Given the description of an element on the screen output the (x, y) to click on. 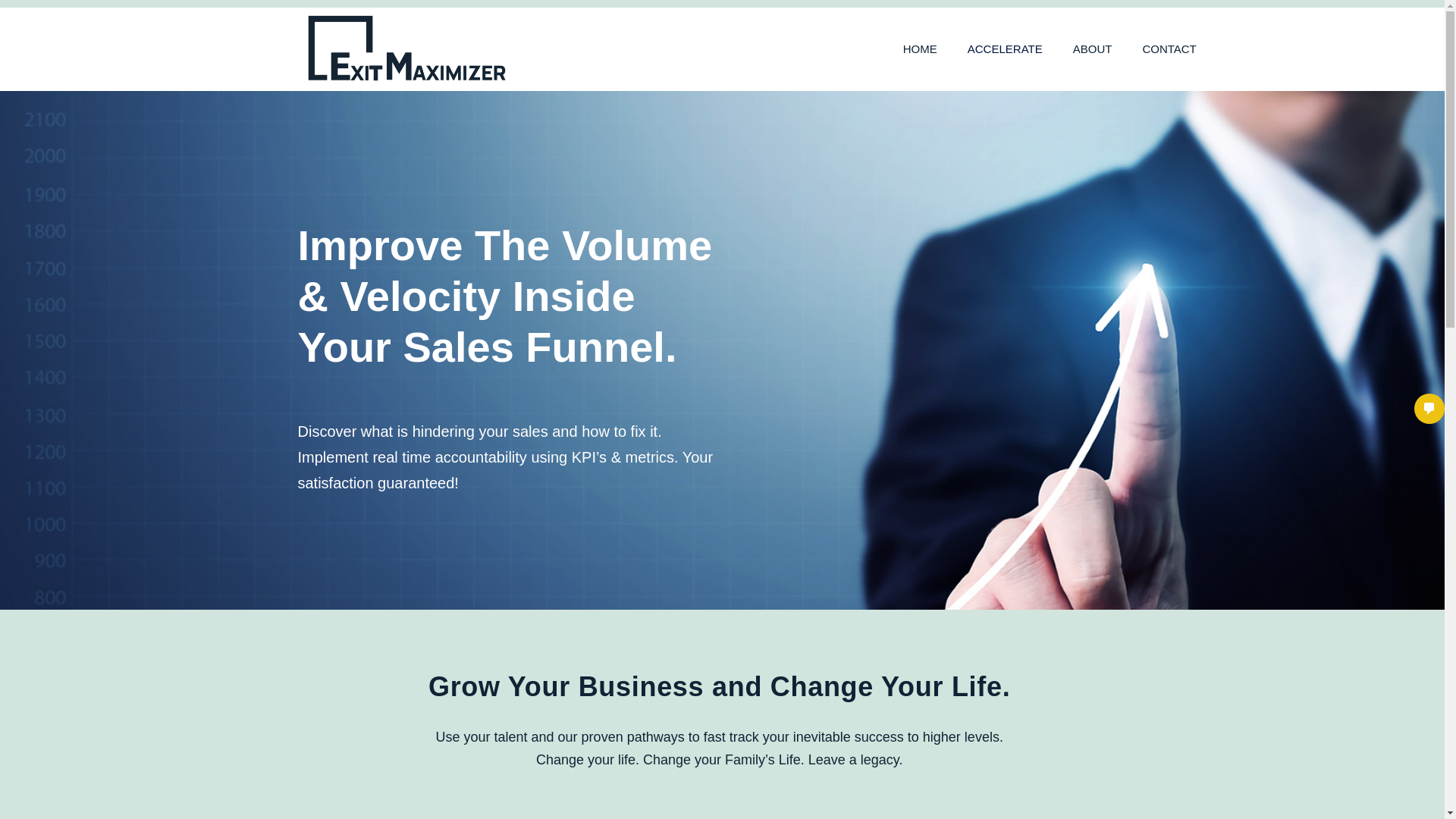
ACCELERATE (1005, 48)
ABOUT (1092, 48)
CONTACT (1168, 48)
HOME (920, 48)
